Given the description of an element on the screen output the (x, y) to click on. 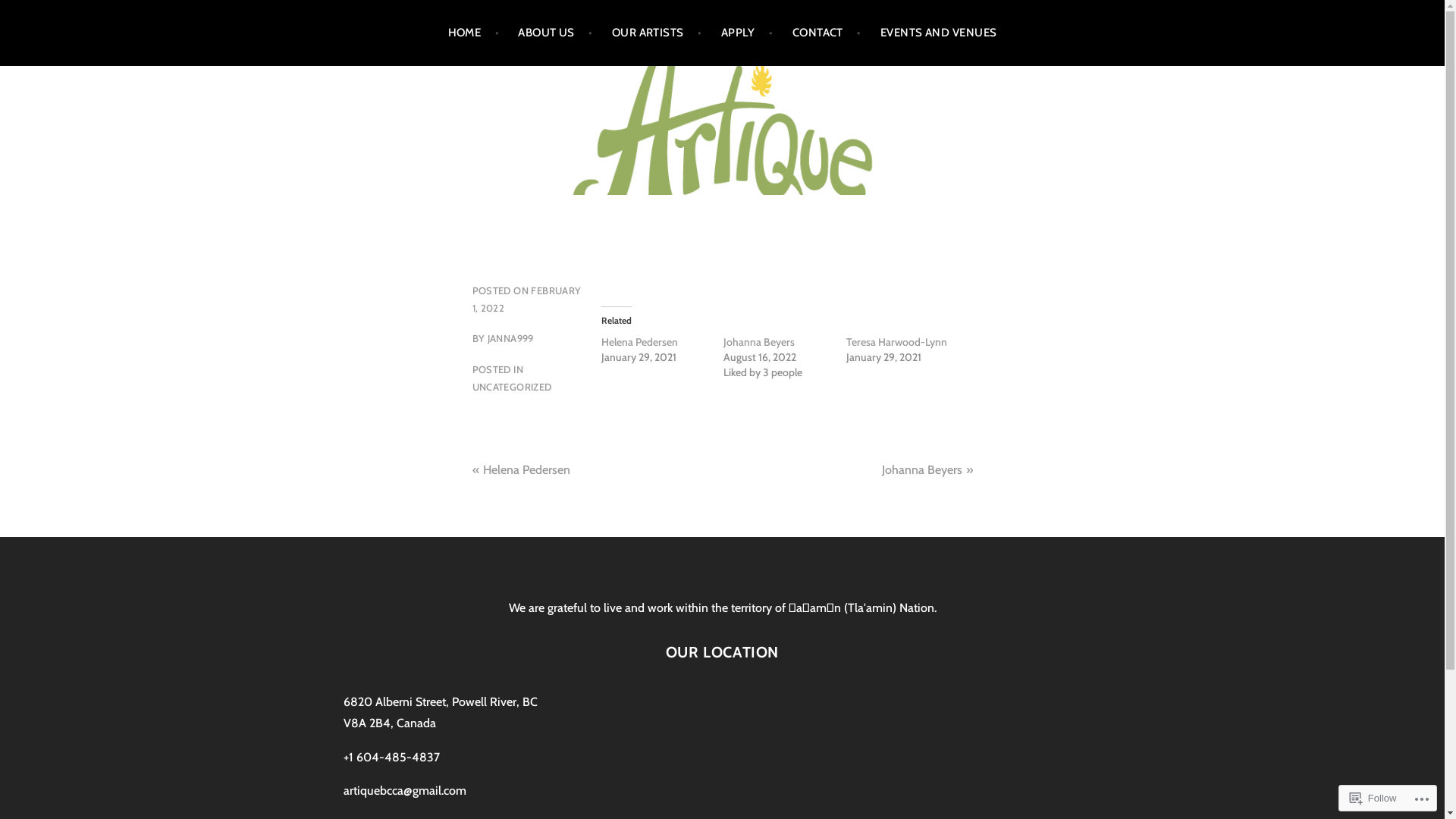
JANNA999 Element type: text (510, 338)
artiquebcca@gmail.com Element type: text (403, 790)
Johanna Beyers Element type: text (758, 341)
OUR ARTISTS Element type: text (656, 32)
ARTIQUE Element type: text (80, 156)
Teresa Harwood-Lynn Element type: text (896, 341)
Johanna Beyers Element type: text (921, 469)
UNCATEGORIZED Element type: text (511, 386)
6820 Alberni Street, Powell River, BC
V8A 2B4, Canada Element type: text (439, 712)
APPLY Element type: text (747, 32)
Helena Pedersen Element type: text (638, 341)
EVENTS AND VENUES Element type: text (938, 32)
FEBRUARY 1, 2022 Element type: text (525, 298)
HOME Element type: text (473, 32)
Helena Pedersen Element type: text (525, 469)
Follow Element type: text (1372, 797)
CONTACT Element type: text (826, 32)
ABOUT US Element type: text (555, 32)
